Given the description of an element on the screen output the (x, y) to click on. 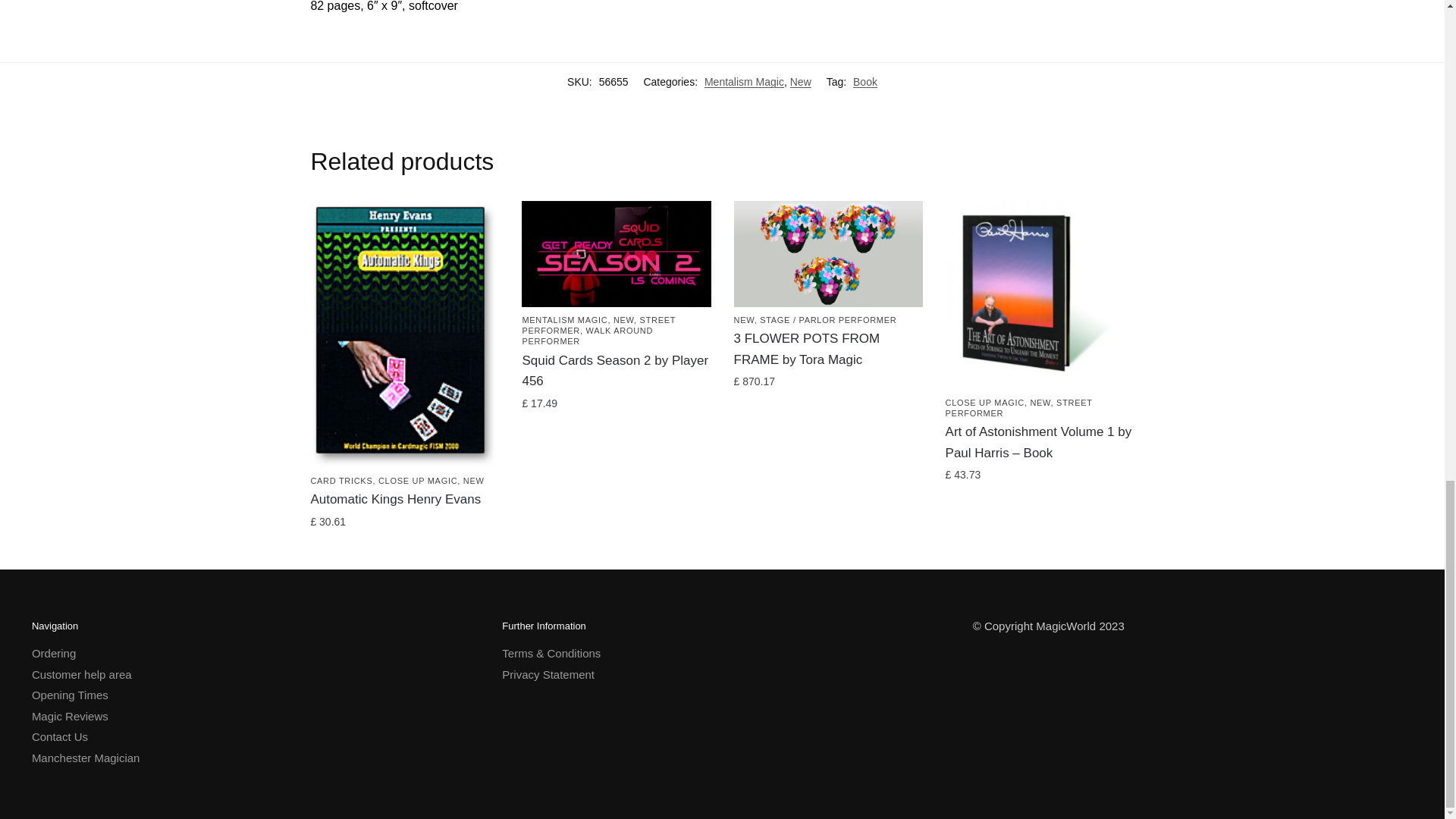
3 FLOWER POTS FROM FRAME by Tora Magic (828, 253)
Squid Cards Season 2 by Player 456 (615, 253)
